Given the description of an element on the screen output the (x, y) to click on. 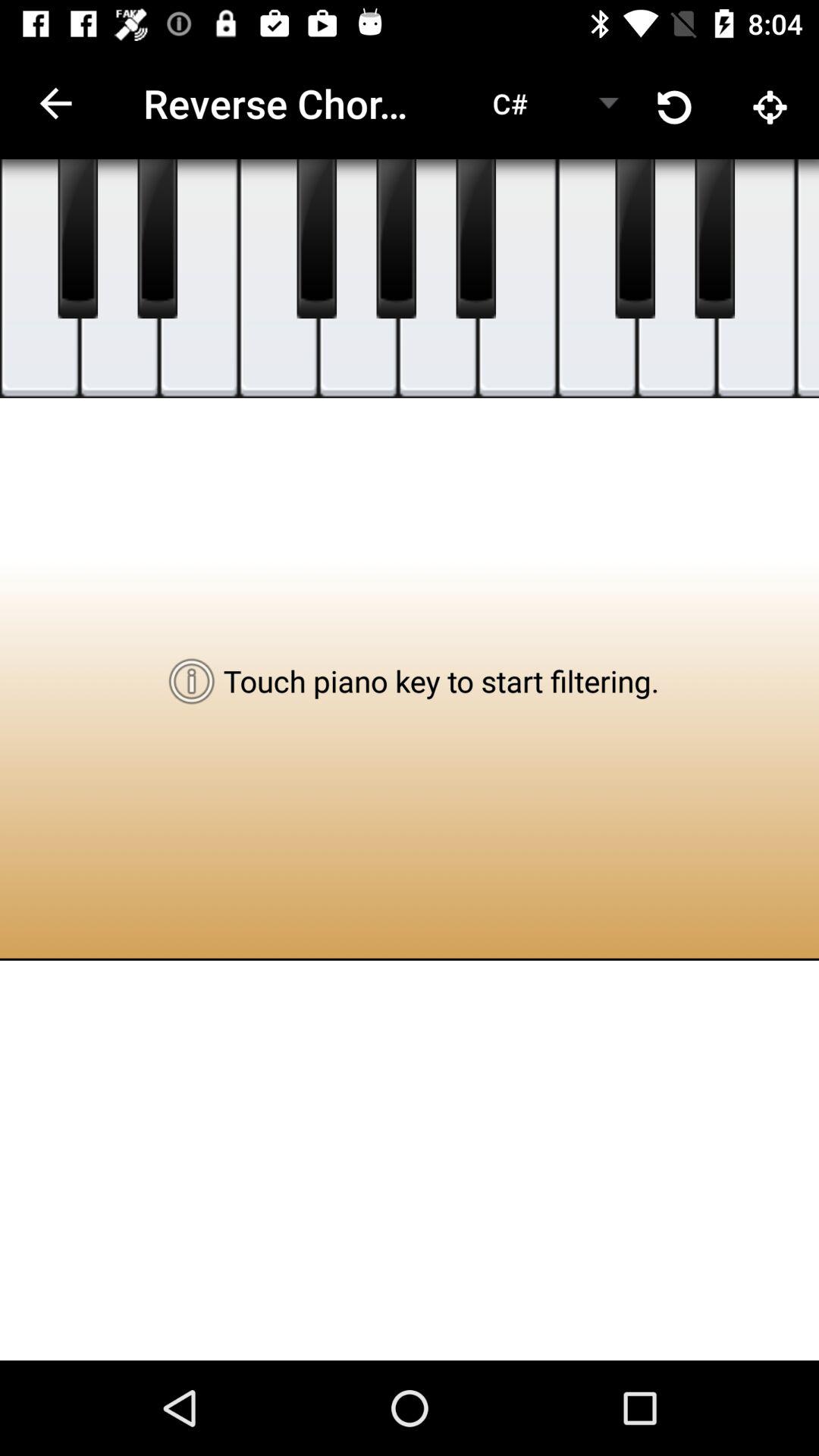
shows piano key button (714, 238)
